Given the description of an element on the screen output the (x, y) to click on. 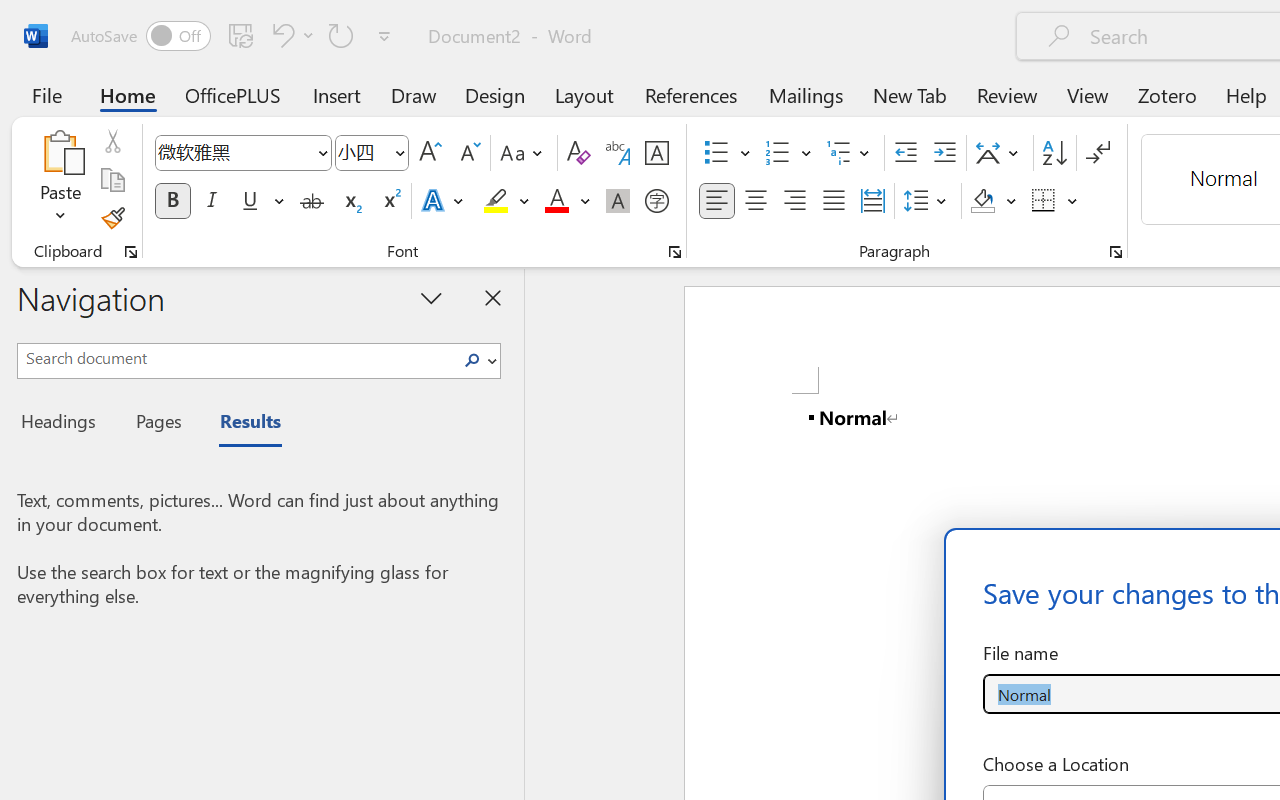
AutoSave (140, 35)
Subscript (350, 201)
Italic (212, 201)
Undo <ApplyStyleToDoc>b__0 (280, 35)
Change Case (524, 153)
Justify (834, 201)
Paragraph... (1115, 252)
Search (478, 360)
Undo <ApplyStyleToDoc>b__0 (290, 35)
Save (241, 35)
Home (127, 94)
Align Left (716, 201)
Mailings (806, 94)
Clear Formatting (578, 153)
Font... (675, 252)
